Given the description of an element on the screen output the (x, y) to click on. 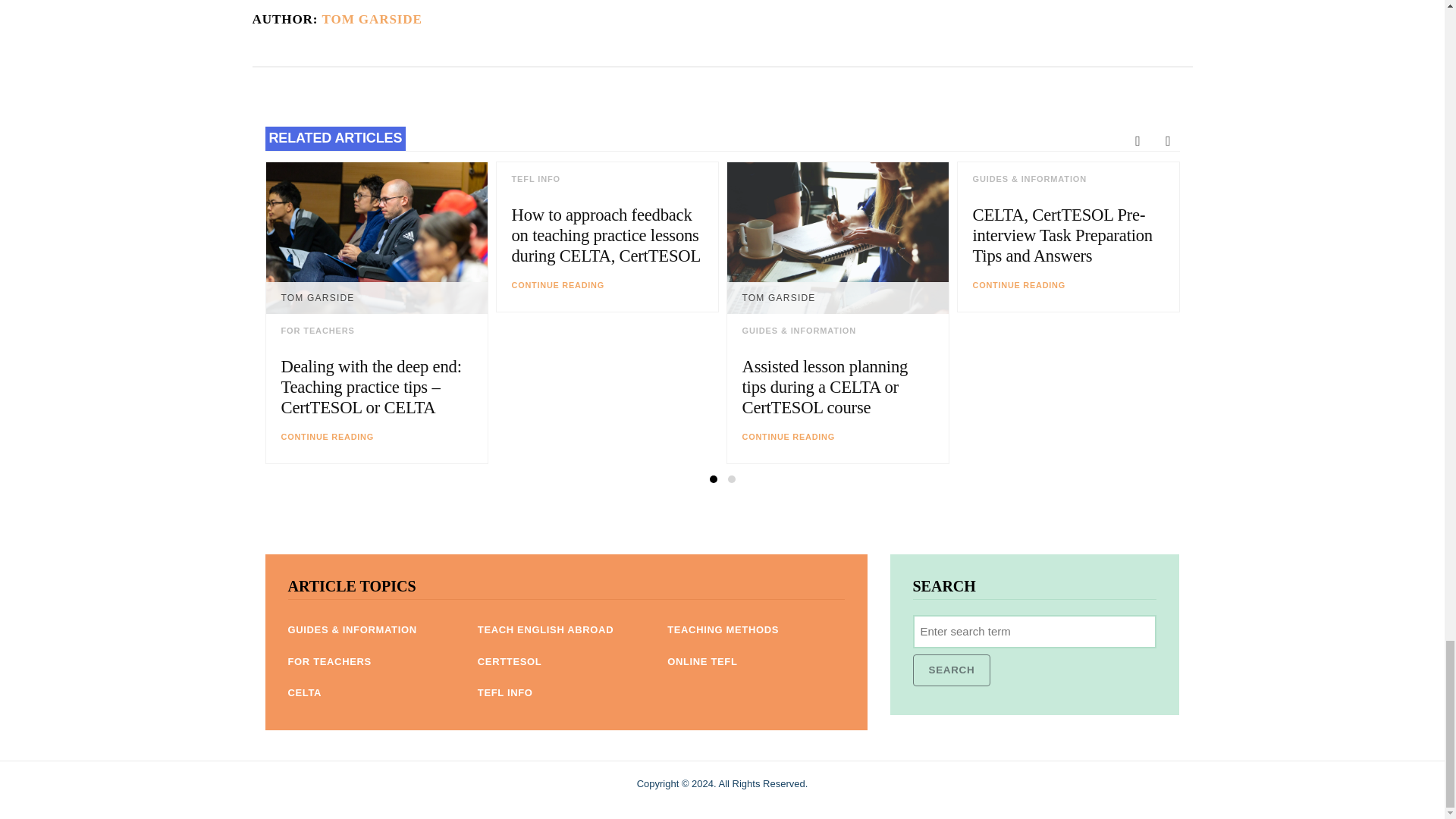
FOR TEACHERS (317, 329)
TEFL Guides, Information, How Tos and Resources for Teachers (352, 629)
TOM GARSIDE (371, 19)
Information, resources, tips, advise for TEFL teachers (329, 661)
TOM GARSIDE (317, 297)
TEFL INFO (535, 178)
